Given the description of an element on the screen output the (x, y) to click on. 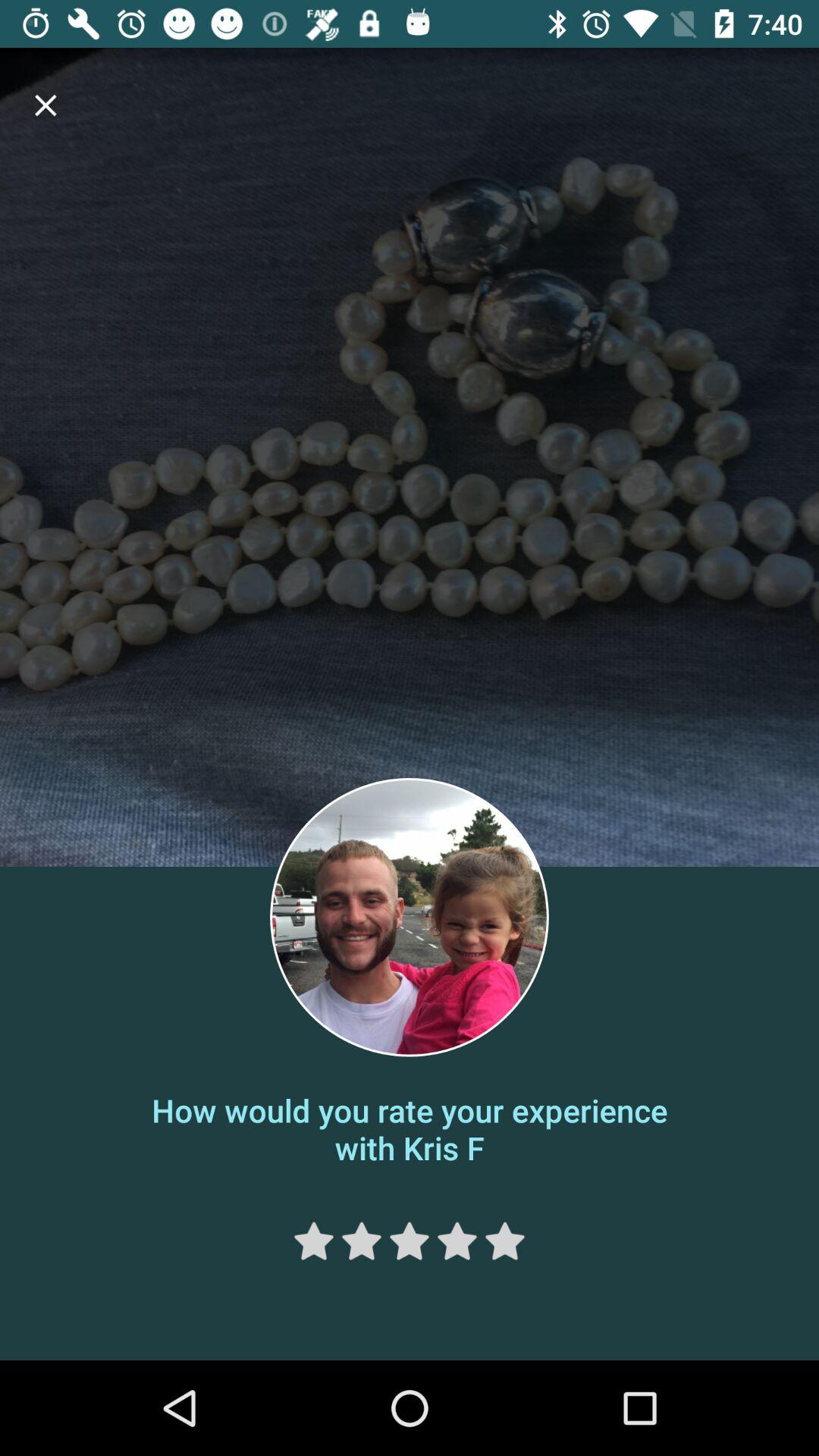
give a grade (409, 1240)
